Given the description of an element on the screen output the (x, y) to click on. 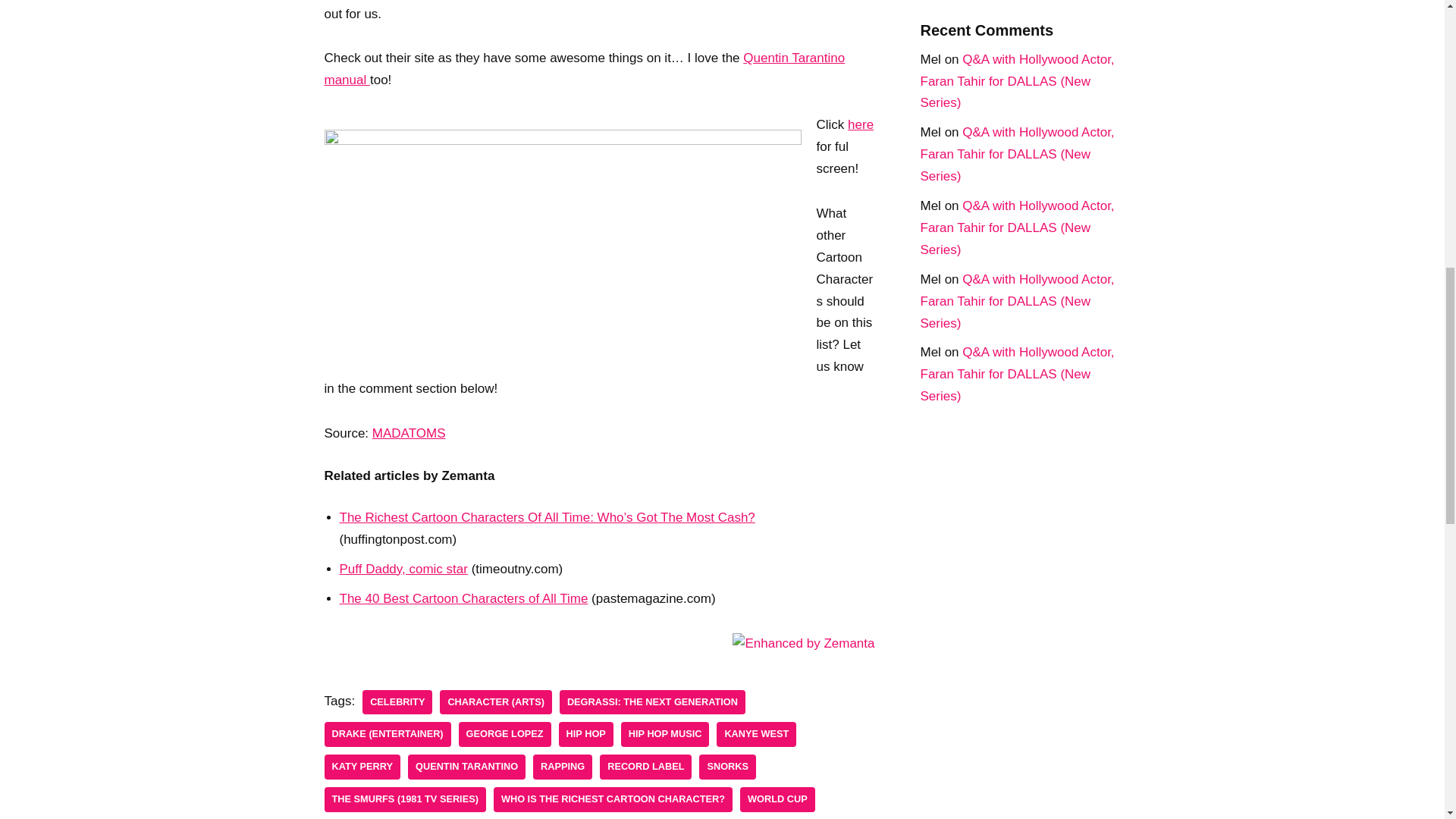
The 40 Best Cartoon Characters of All Time (463, 598)
George Lopez (504, 733)
Katy Perry (362, 766)
DEGRASSI: THE NEXT GENERATION (652, 702)
Quentin Tarantino manual (584, 68)
MADATOMS (408, 432)
Puff Daddy, comic star (403, 568)
Celebrity (397, 702)
here (860, 124)
Hip hop music (665, 733)
